Given the description of an element on the screen output the (x, y) to click on. 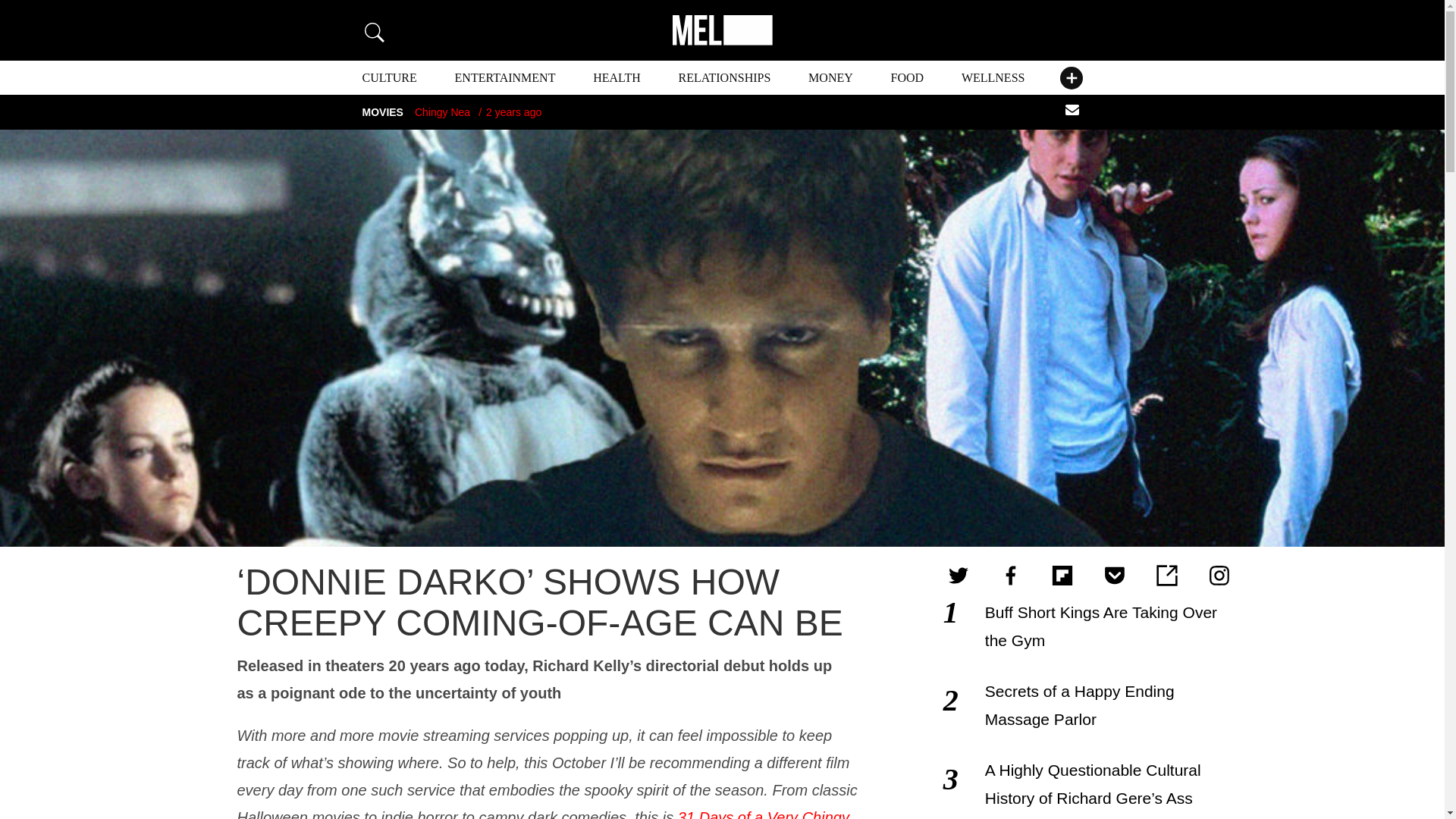
Instagram (1219, 575)
Flipboard (1061, 575)
MONEY (830, 77)
MEL Magazine (721, 30)
WELLNESS (992, 77)
Copy Link (1166, 575)
Twitter (958, 575)
RELATIONSHIPS (724, 77)
Facebook (1010, 575)
ENTERTAINMENT (505, 77)
